Given the description of an element on the screen output the (x, y) to click on. 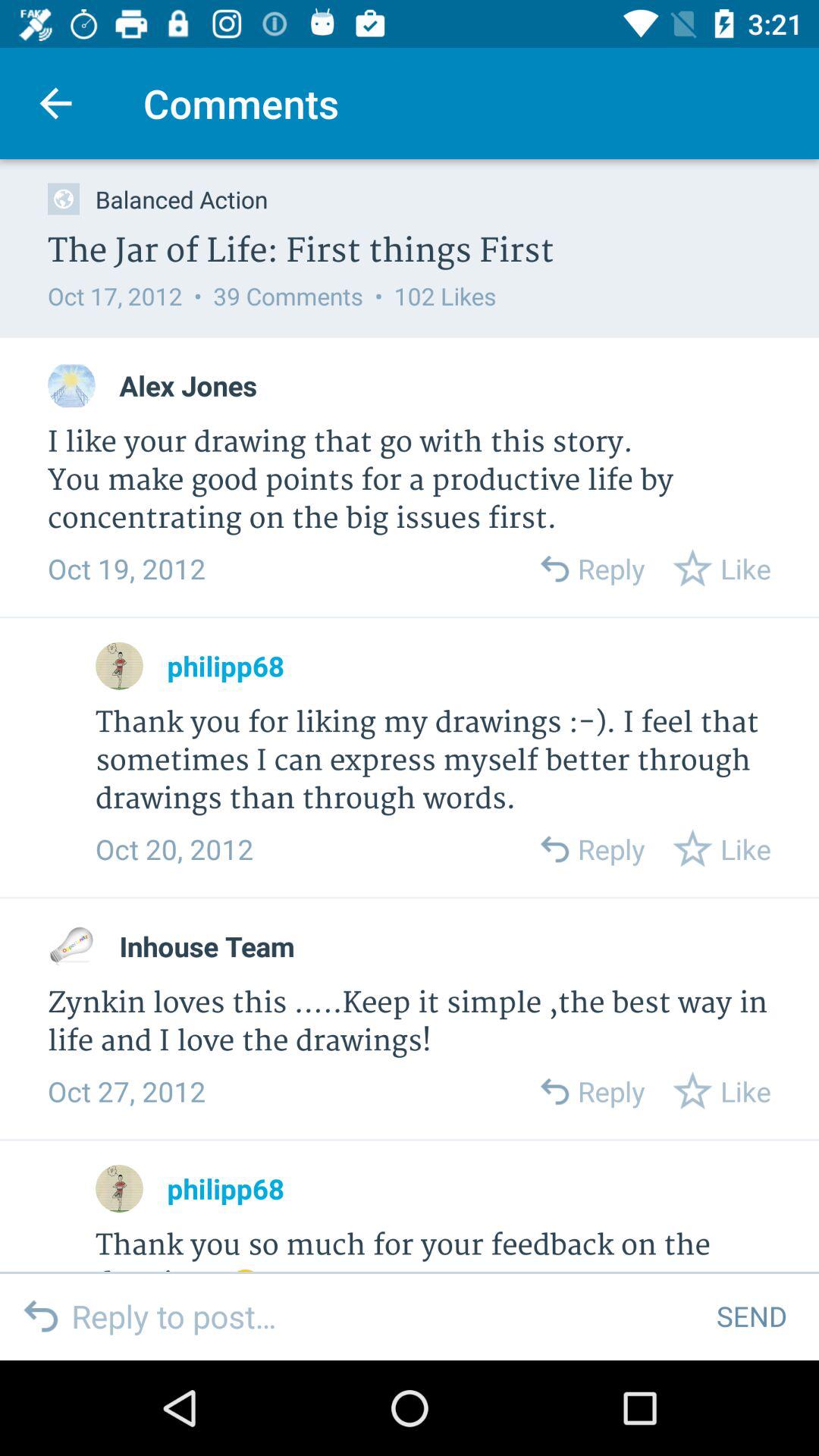
get more info on this person (119, 1188)
